Given the description of an element on the screen output the (x, y) to click on. 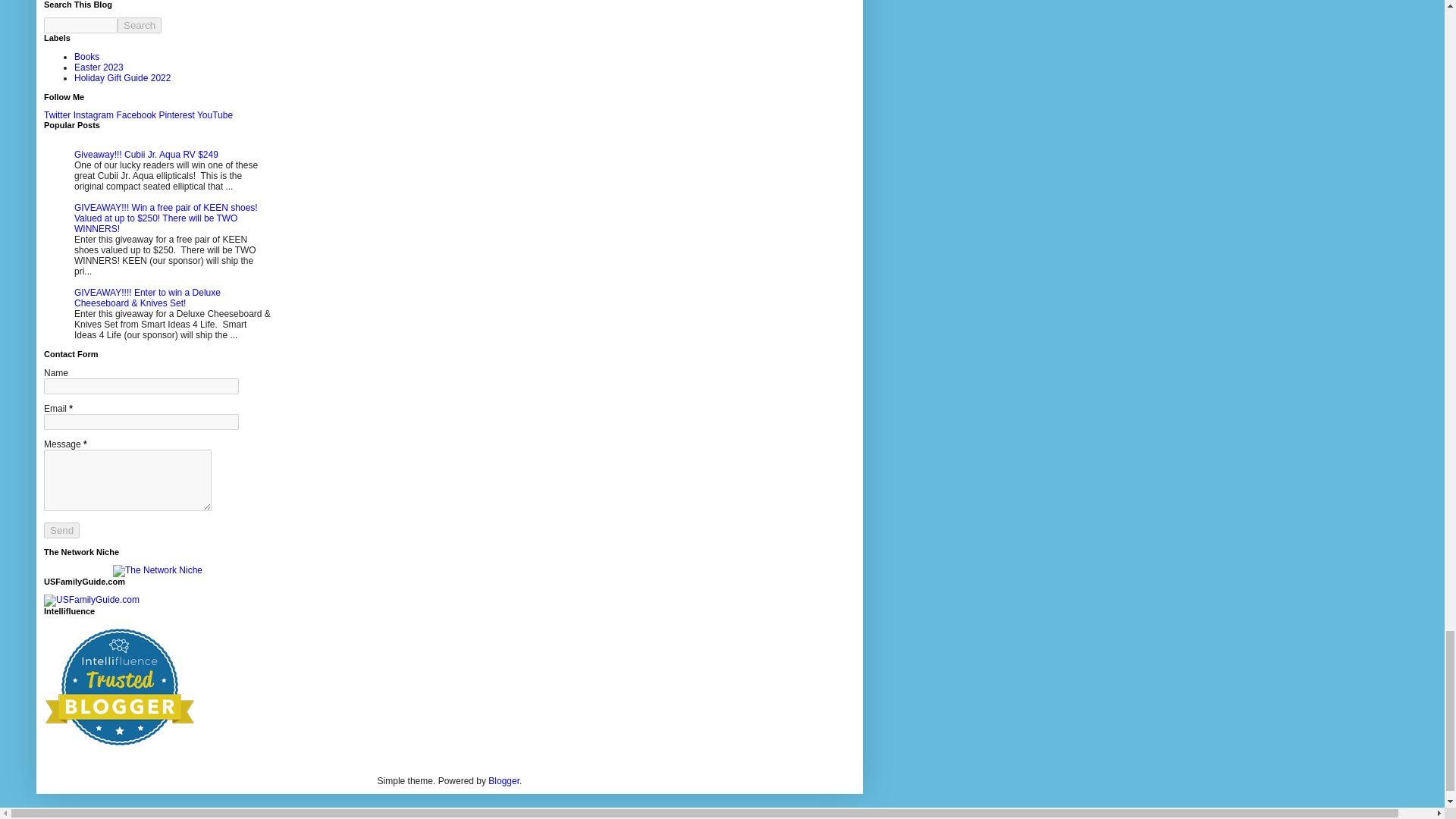
Holiday Gift Guide 2022 (122, 77)
search (80, 25)
Pinterest (175, 114)
Easter 2023 (98, 67)
The Network Niche (157, 570)
Search (139, 25)
search (139, 25)
Search (139, 25)
Books (86, 56)
Send (61, 530)
Instagram (93, 114)
Search (139, 25)
Twitter (56, 114)
Facebook (135, 114)
